Given the description of an element on the screen output the (x, y) to click on. 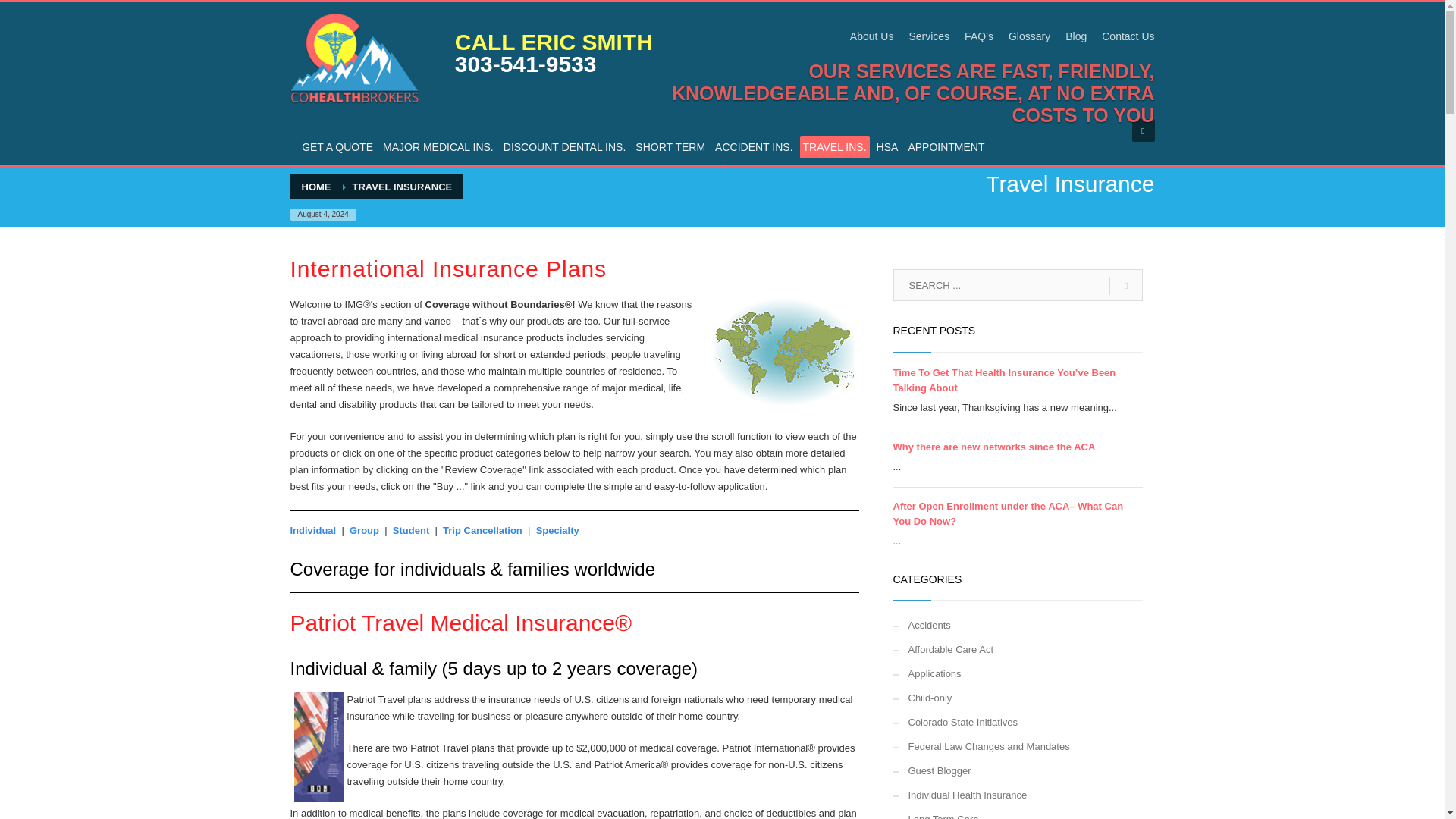
303-541-9533 (525, 63)
GET A QUOTE (336, 147)
Contact Us (1128, 36)
Blog (1075, 36)
Co Health Brokers (354, 58)
Glossary (1029, 36)
Group (363, 530)
Services (928, 36)
SHORT TERM (669, 147)
Student (411, 530)
Specialty (557, 530)
MAJOR MEDICAL INS. (438, 147)
